Given the description of an element on the screen output the (x, y) to click on. 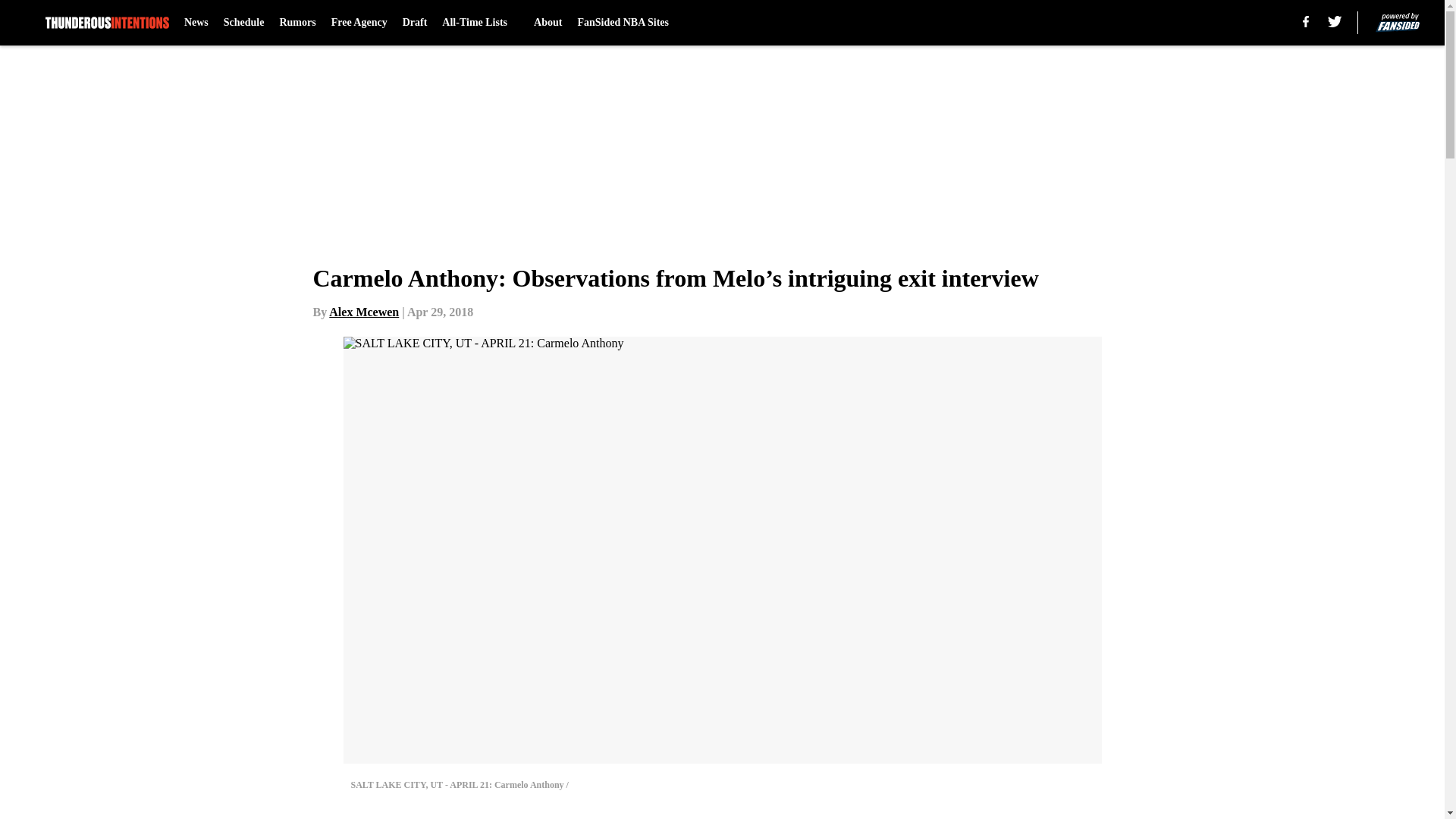
Alex Mcewen (363, 311)
Free Agency (359, 22)
Rumors (297, 22)
About (548, 22)
Schedule (244, 22)
News (196, 22)
Draft (415, 22)
FanSided NBA Sites (622, 22)
All-Time Lists (480, 22)
